Given the description of an element on the screen output the (x, y) to click on. 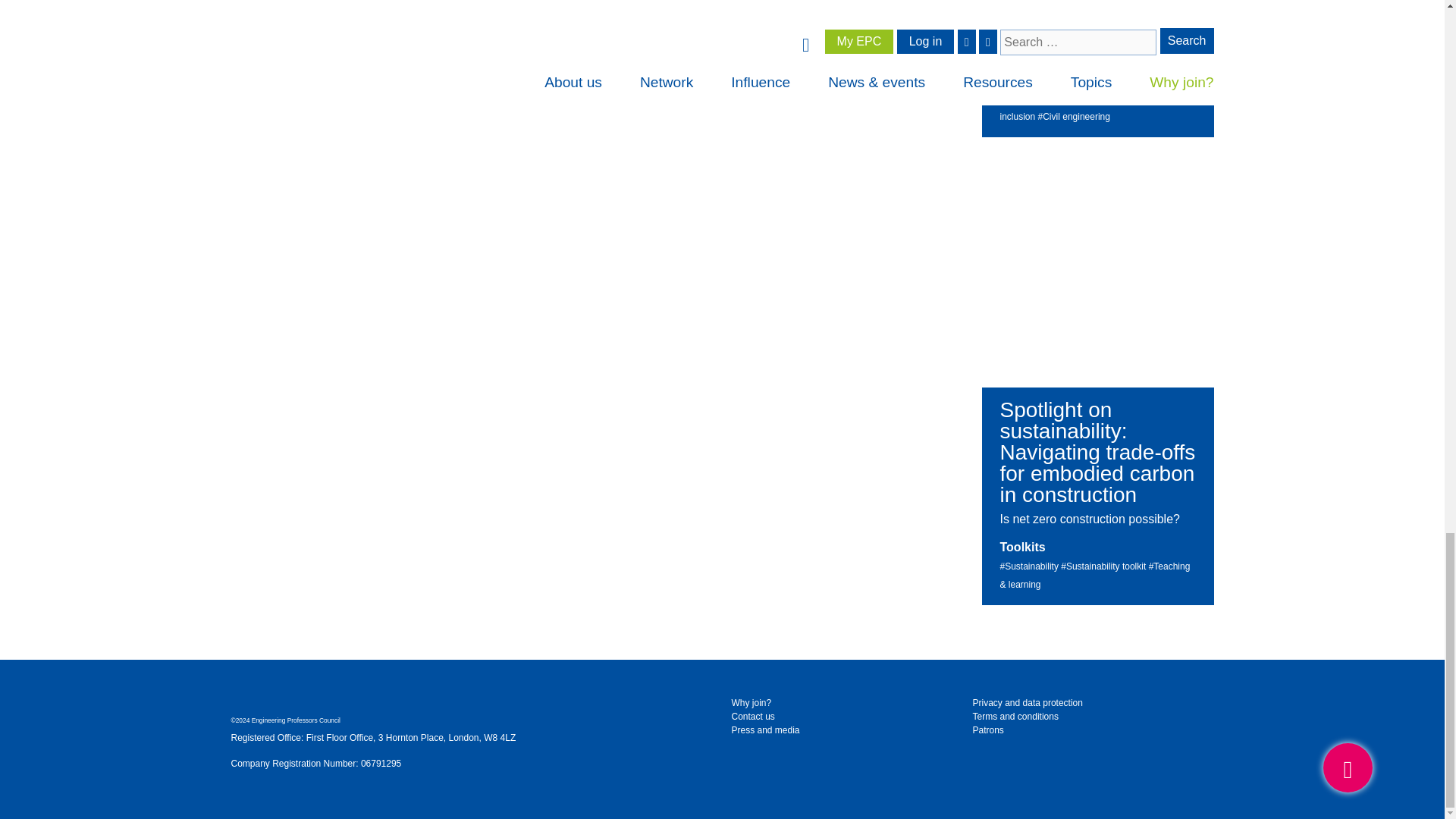
Contact us (752, 716)
Why join? (750, 702)
Terms and conditions (1015, 716)
Press and media (764, 729)
Privacy and data protection (1026, 702)
